Given the description of an element on the screen output the (x, y) to click on. 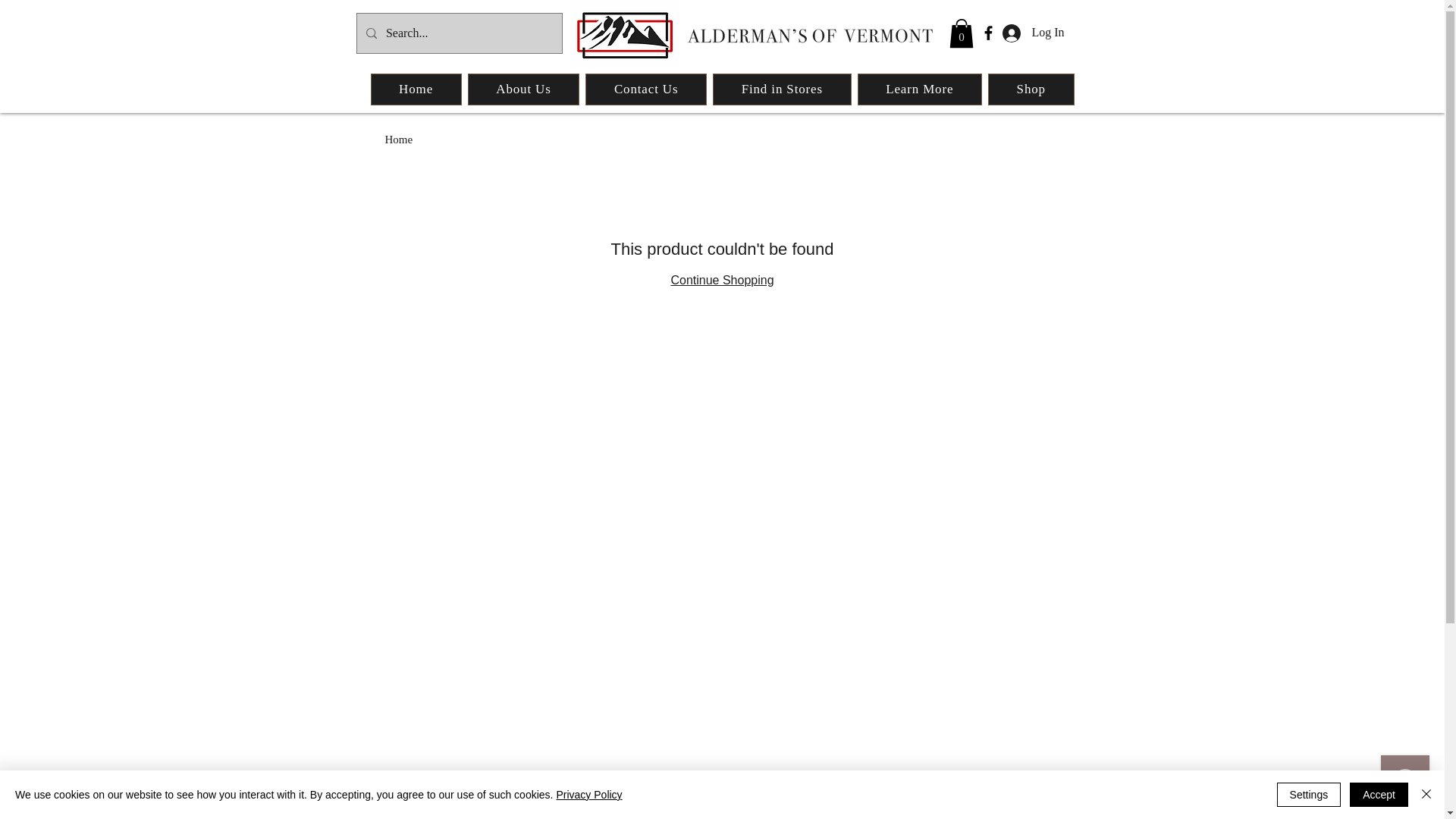
About Us (523, 89)
Continue Shopping (721, 279)
ICON.png (623, 34)
Home (399, 139)
Find in Stores (782, 89)
Learn More (919, 89)
Shop (1031, 89)
Settings (1308, 794)
Privacy Policy (588, 794)
Accept (1378, 794)
